Given the description of an element on the screen output the (x, y) to click on. 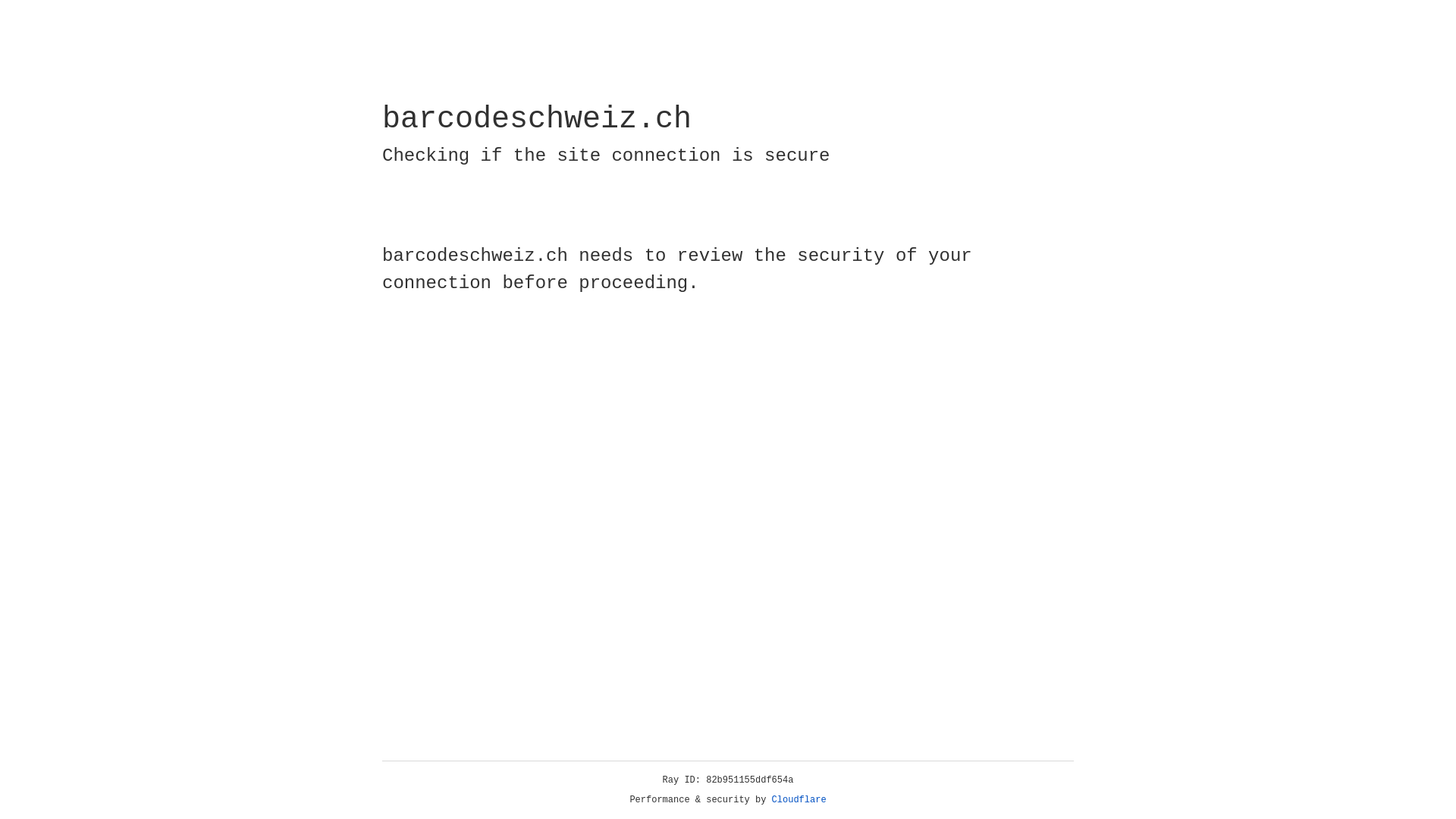
Cloudflare Element type: text (798, 799)
